Given the description of an element on the screen output the (x, y) to click on. 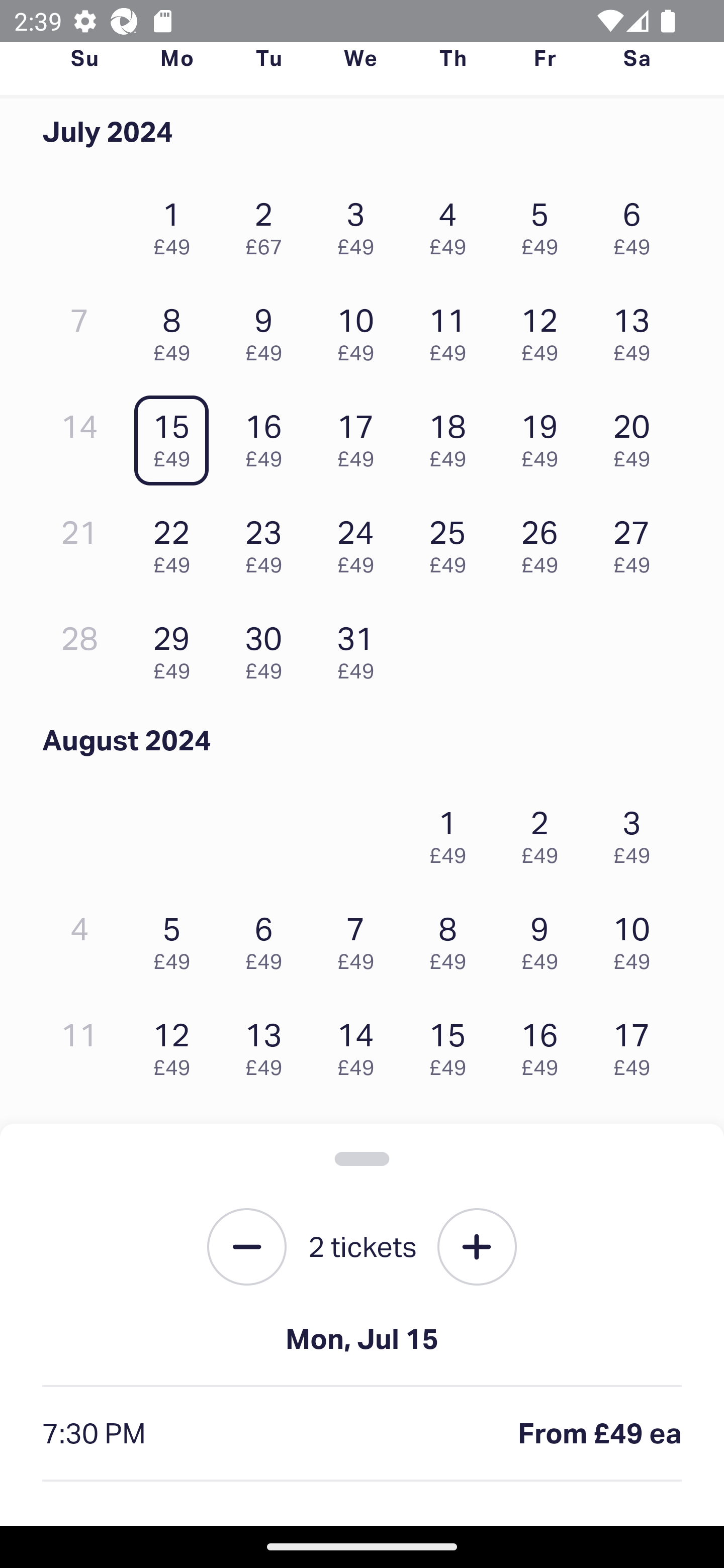
1 £49 (176, 223)
2 £67 (268, 223)
3 £49 (360, 223)
4 £49 (452, 223)
5 £49 (544, 223)
6 £49 (636, 223)
8 £49 (176, 329)
9 £49 (268, 329)
10 £49 (360, 329)
11 £49 (452, 329)
12 £49 (544, 329)
13 £49 (636, 329)
15 £49 (176, 435)
16 £49 (268, 435)
17 £49 (360, 435)
18 £49 (452, 435)
19 £49 (544, 435)
20 £49 (636, 435)
22 £49 (176, 541)
23 £49 (268, 541)
24 £49 (360, 541)
25 £49 (452, 541)
26 £49 (544, 541)
27 £49 (636, 541)
29 £49 (176, 647)
30 £49 (268, 647)
31 £49 (360, 647)
1 £49 (452, 831)
2 £49 (544, 831)
3 £49 (636, 831)
5 £49 (176, 938)
6 £49 (268, 938)
7 £49 (360, 938)
8 £49 (452, 938)
9 £49 (544, 938)
10 £49 (636, 938)
12 £49 (176, 1044)
13 £49 (268, 1044)
14 £49 (360, 1044)
15 £49 (452, 1044)
16 £49 (544, 1044)
17 £49 (636, 1044)
7:30 PM From £49 ea (361, 1434)
